Given the description of an element on the screen output the (x, y) to click on. 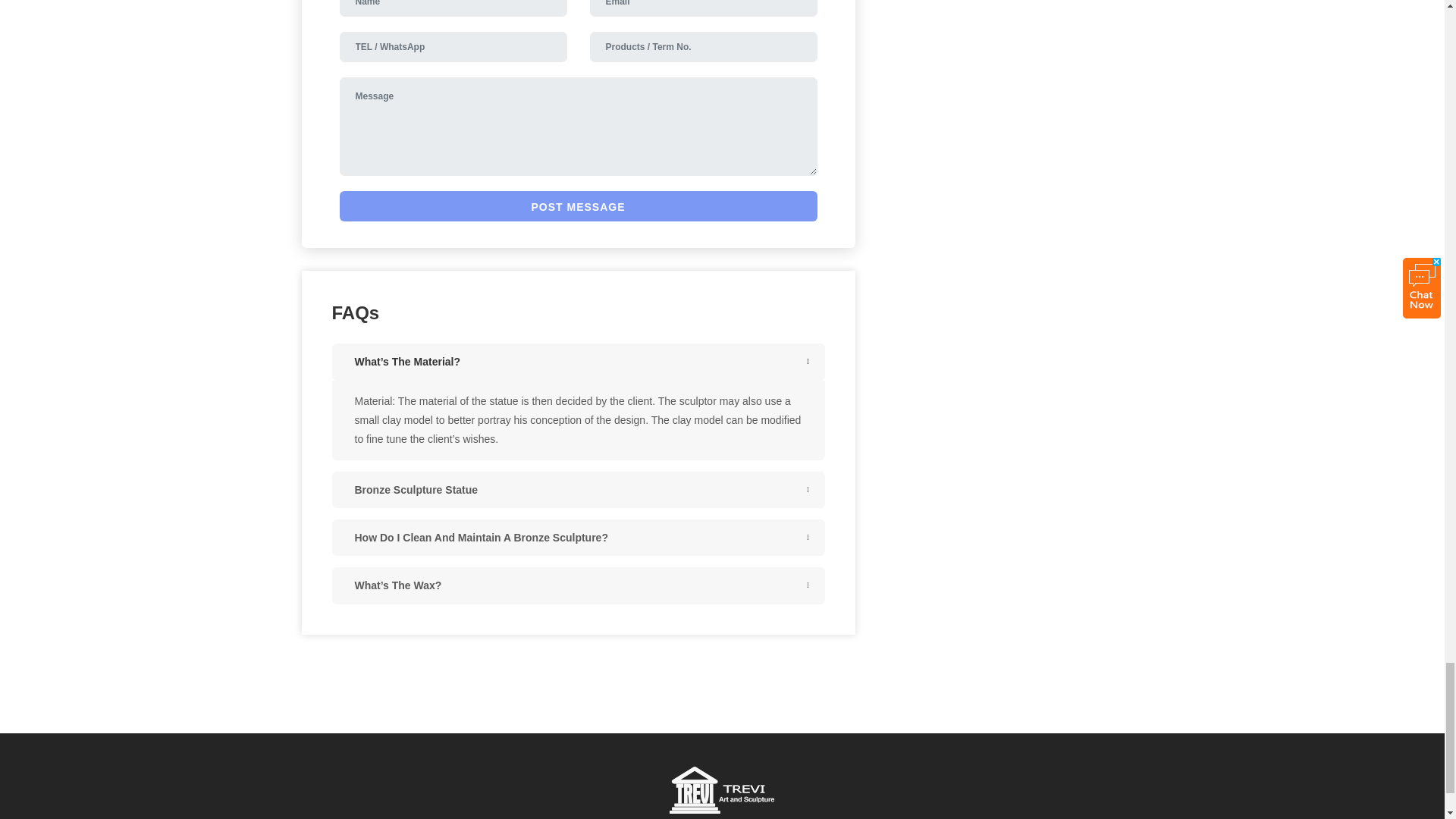
POST MESSAGE (577, 205)
Bronze Sculpture Statue (578, 489)
How Do I Clean And Maintain A Bronze Sculpture? (578, 537)
